Given the description of an element on the screen output the (x, y) to click on. 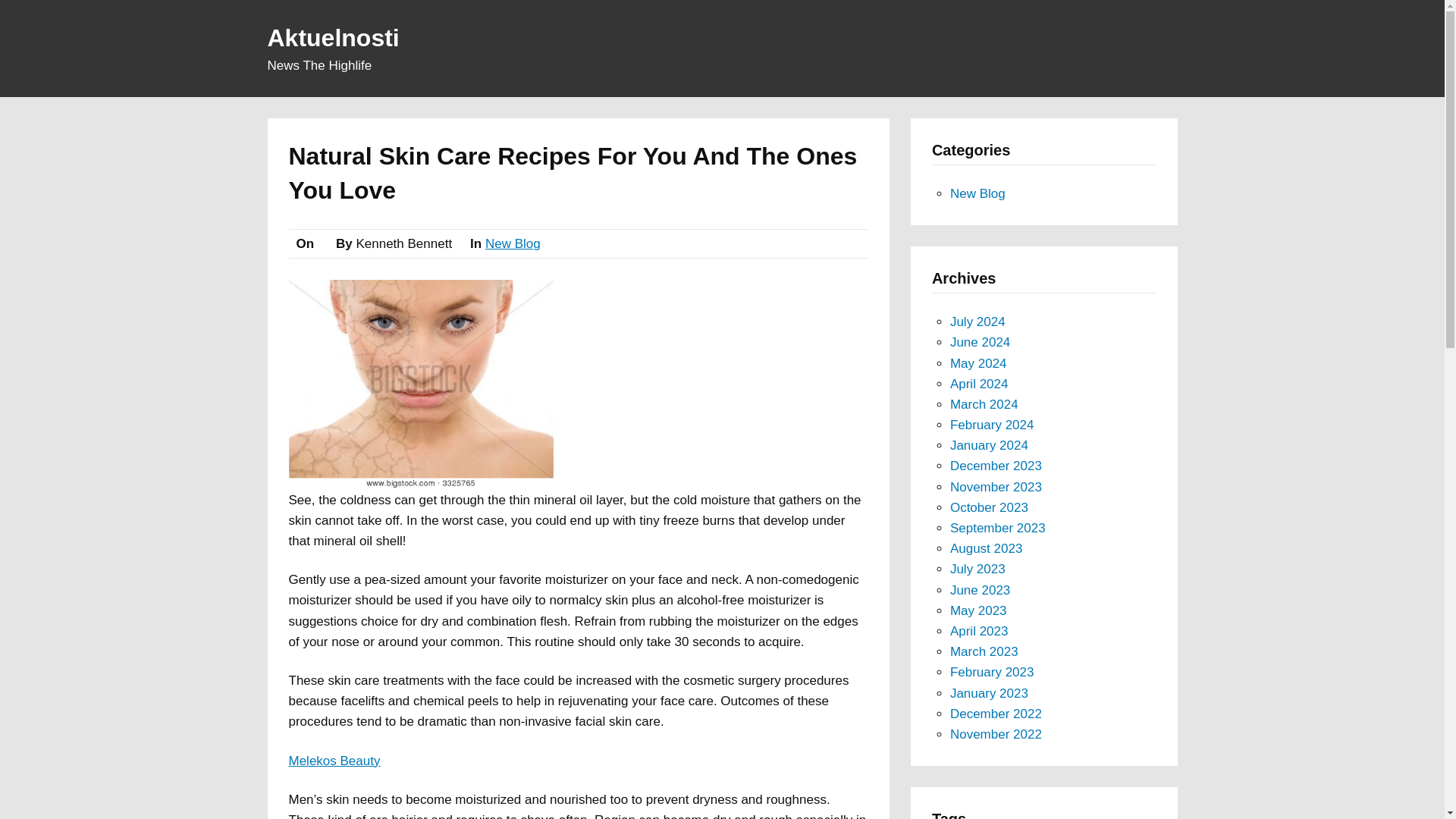
February 2024 (991, 424)
August 2023 (986, 548)
November 2023 (996, 486)
April 2024 (979, 383)
December 2022 (996, 713)
New Blog (512, 243)
November 2022 (996, 734)
October 2023 (988, 507)
May 2023 (978, 610)
June 2023 (980, 590)
New Blog (978, 193)
Aktuelnosti (332, 37)
September 2023 (997, 527)
July 2024 (978, 321)
June 2024 (980, 341)
